Given the description of an element on the screen output the (x, y) to click on. 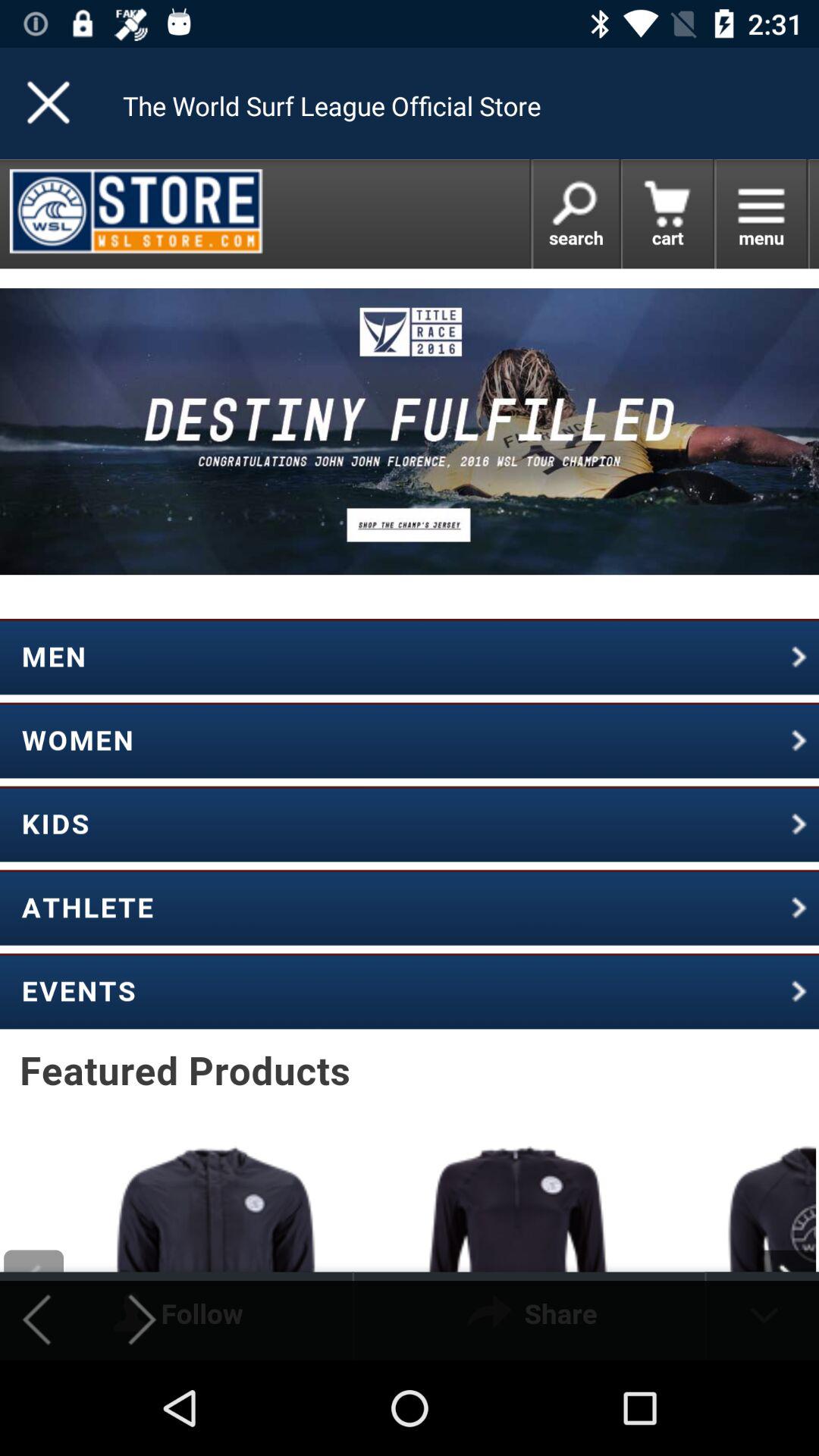
to close the search results (49, 103)
